Given the description of an element on the screen output the (x, y) to click on. 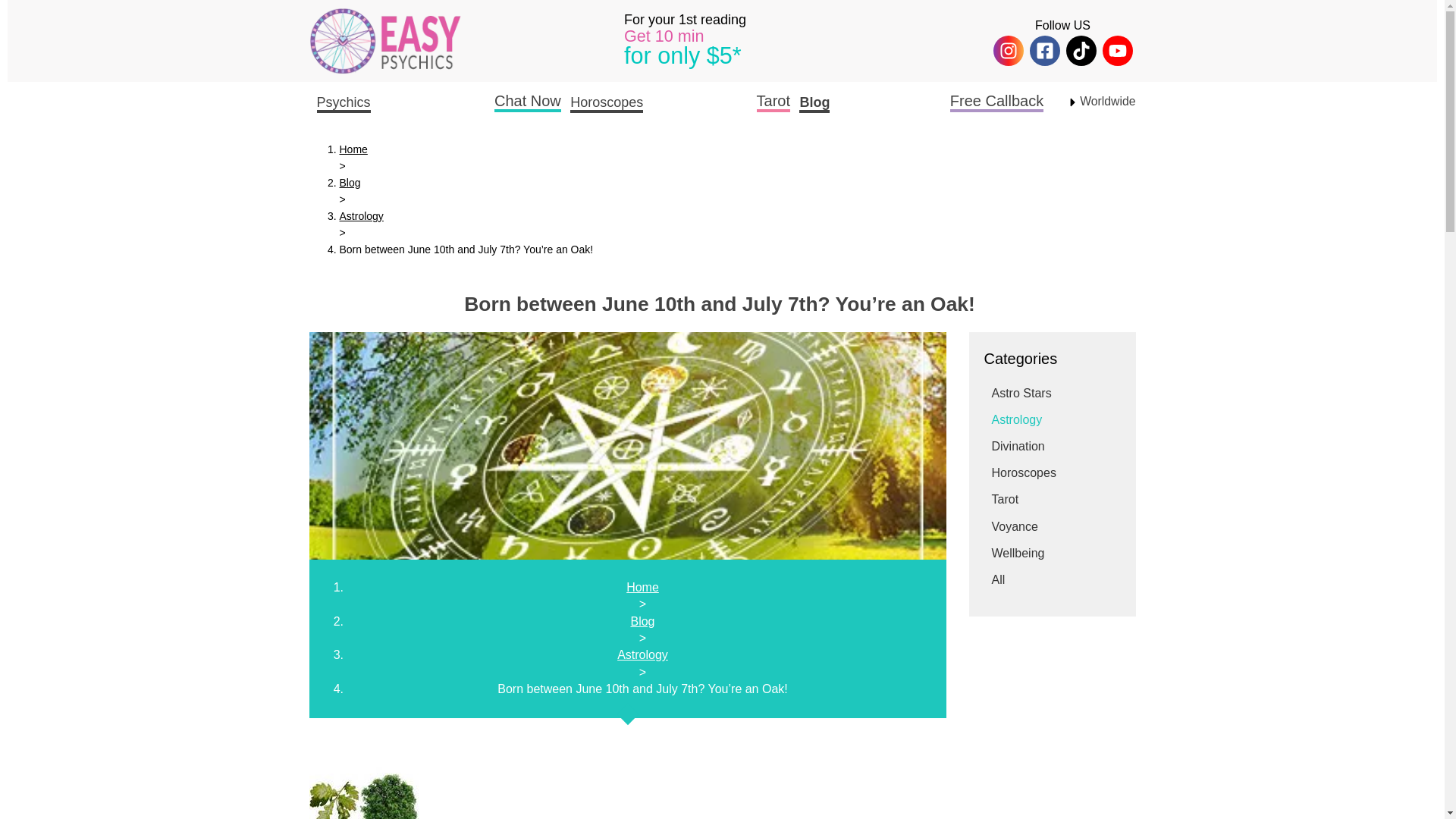
Chat Now (527, 100)
Astro Stars (1021, 392)
Divination (1018, 445)
Tarot (1005, 499)
Voyance (1014, 526)
Wellbeing (1018, 553)
Astrology (1016, 419)
Horoscopes (1024, 472)
all categories (998, 579)
